Given the description of an element on the screen output the (x, y) to click on. 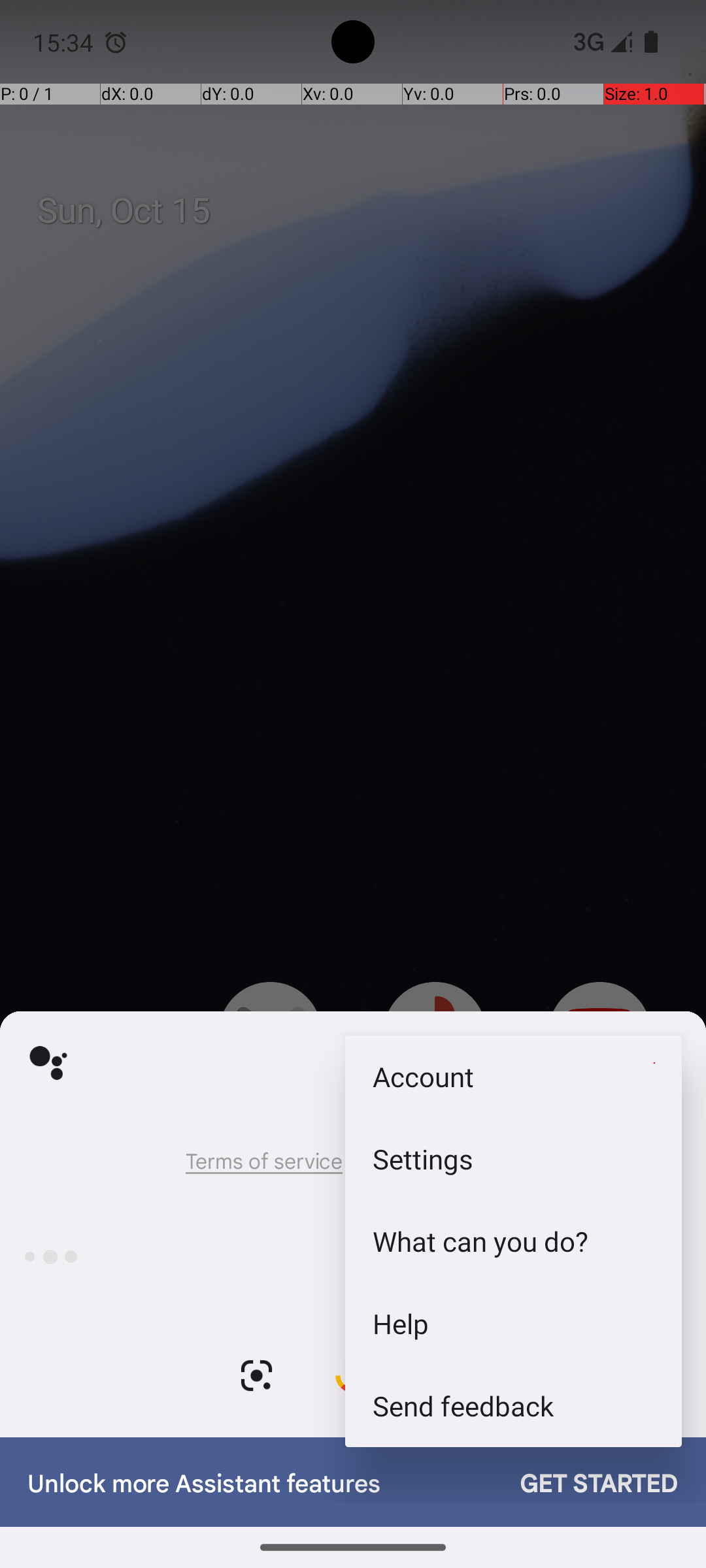
Account Element type: android.widget.TextView (513, 1075)
What can you do? Element type: android.widget.TextView (513, 1240)
